Given the description of an element on the screen output the (x, y) to click on. 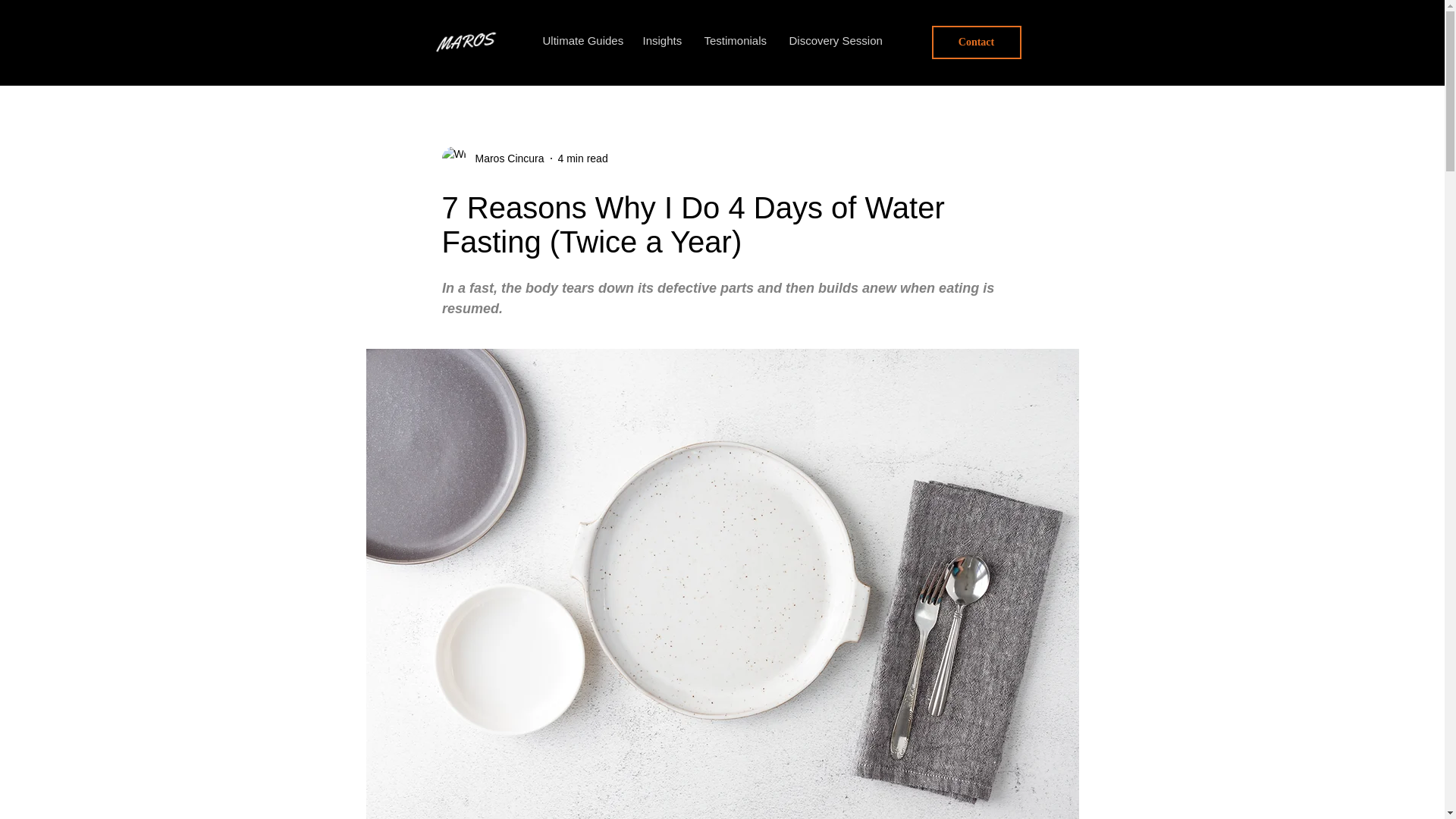
Contact (975, 41)
4 min read (582, 157)
Maros Cincura (504, 157)
Discovery Session (832, 40)
Maros Cincura (492, 158)
Testimonials (735, 40)
Ultimate Guides (580, 40)
Insights (661, 40)
